Given the description of an element on the screen output the (x, y) to click on. 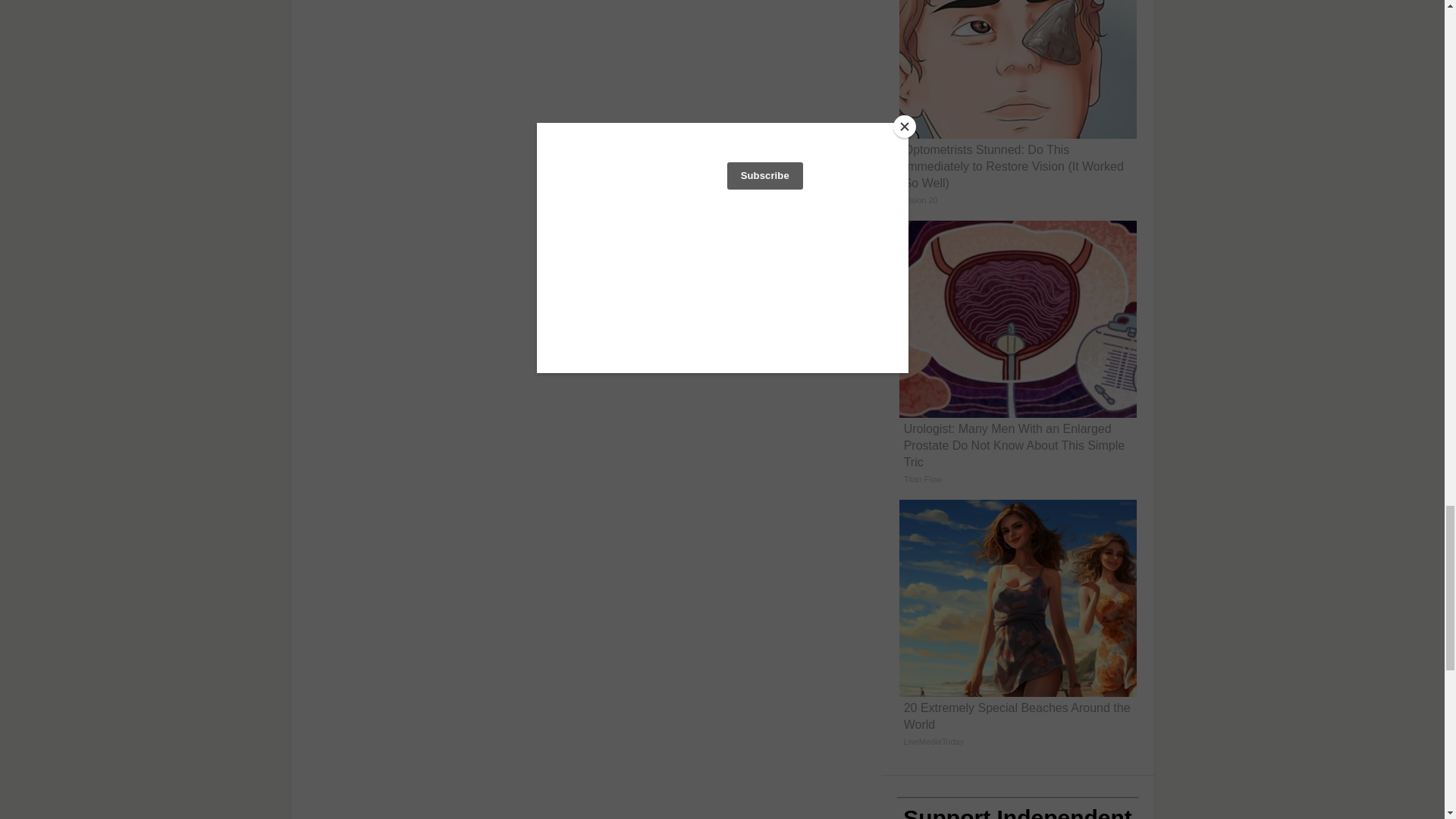
20 Extremely Special Beaches Around the World (1018, 628)
